Given the description of an element on the screen output the (x, y) to click on. 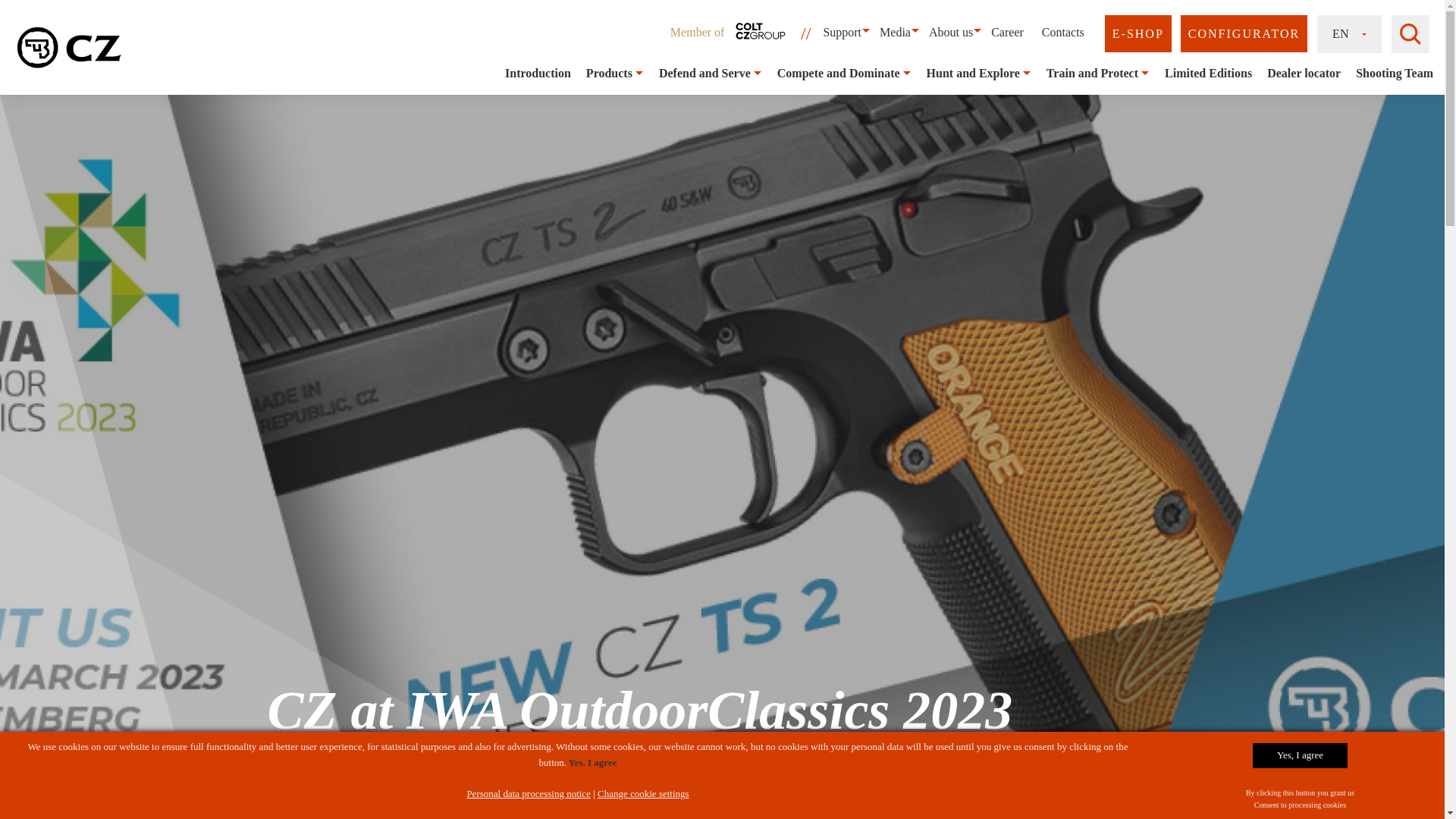
Support (841, 32)
Career (1007, 32)
Introduction (537, 73)
E-SHOP (1138, 33)
Contacts (1062, 32)
Media (894, 32)
CONFIGURATOR (1243, 33)
About us (950, 32)
Products (608, 73)
